Given the description of an element on the screen output the (x, y) to click on. 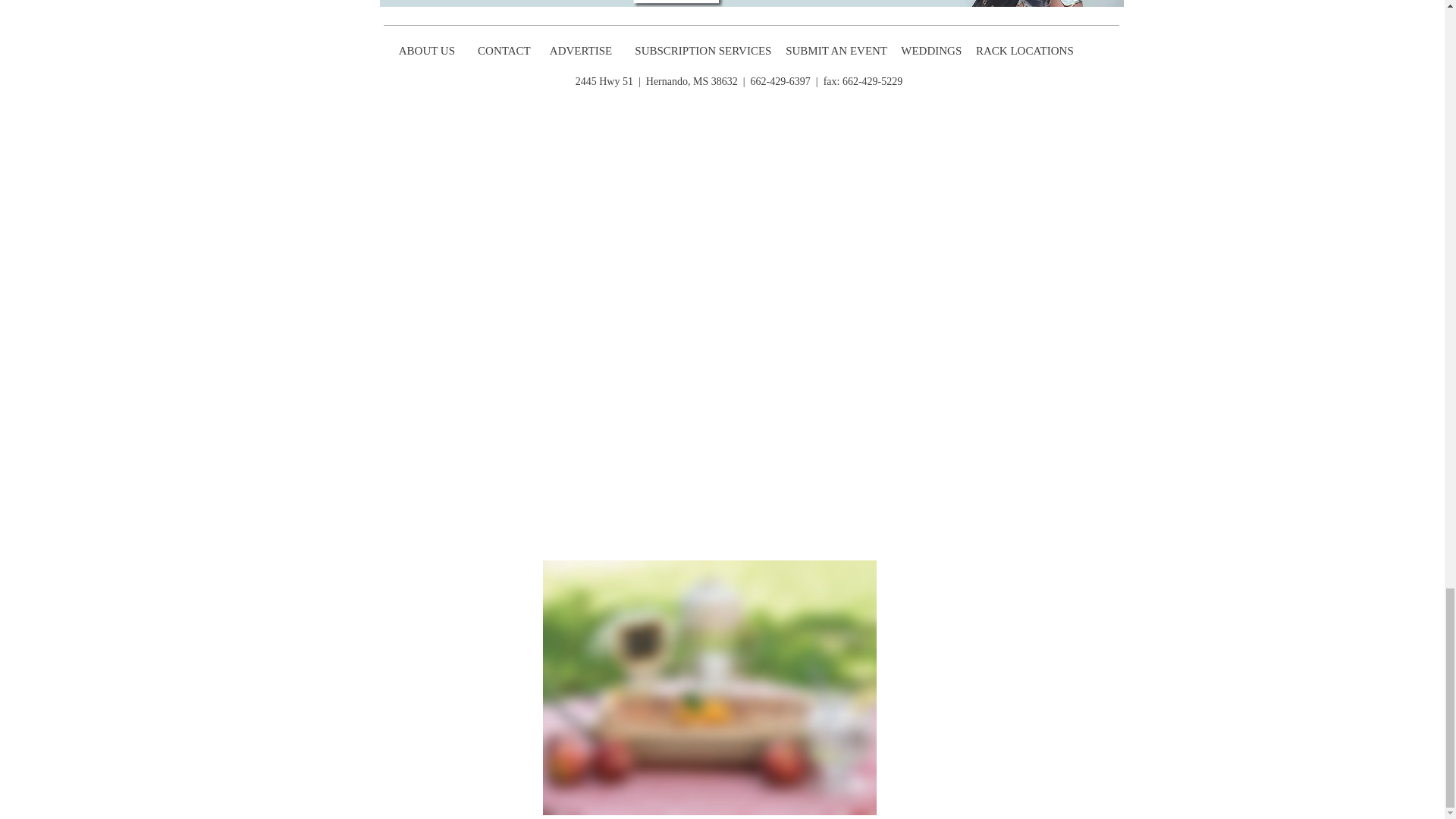
ABOUT US (426, 50)
CONTACT (504, 50)
Edited Image 2016-06-07 15-03-34 (709, 687)
RACK LOCATIONS   (1026, 50)
WEDDINGS   (935, 50)
ADVERTISE (582, 50)
SUBMIT AN EVENT (837, 50)
 SUBSCRIPTION SERVICES (702, 50)
